Given the description of an element on the screen output the (x, y) to click on. 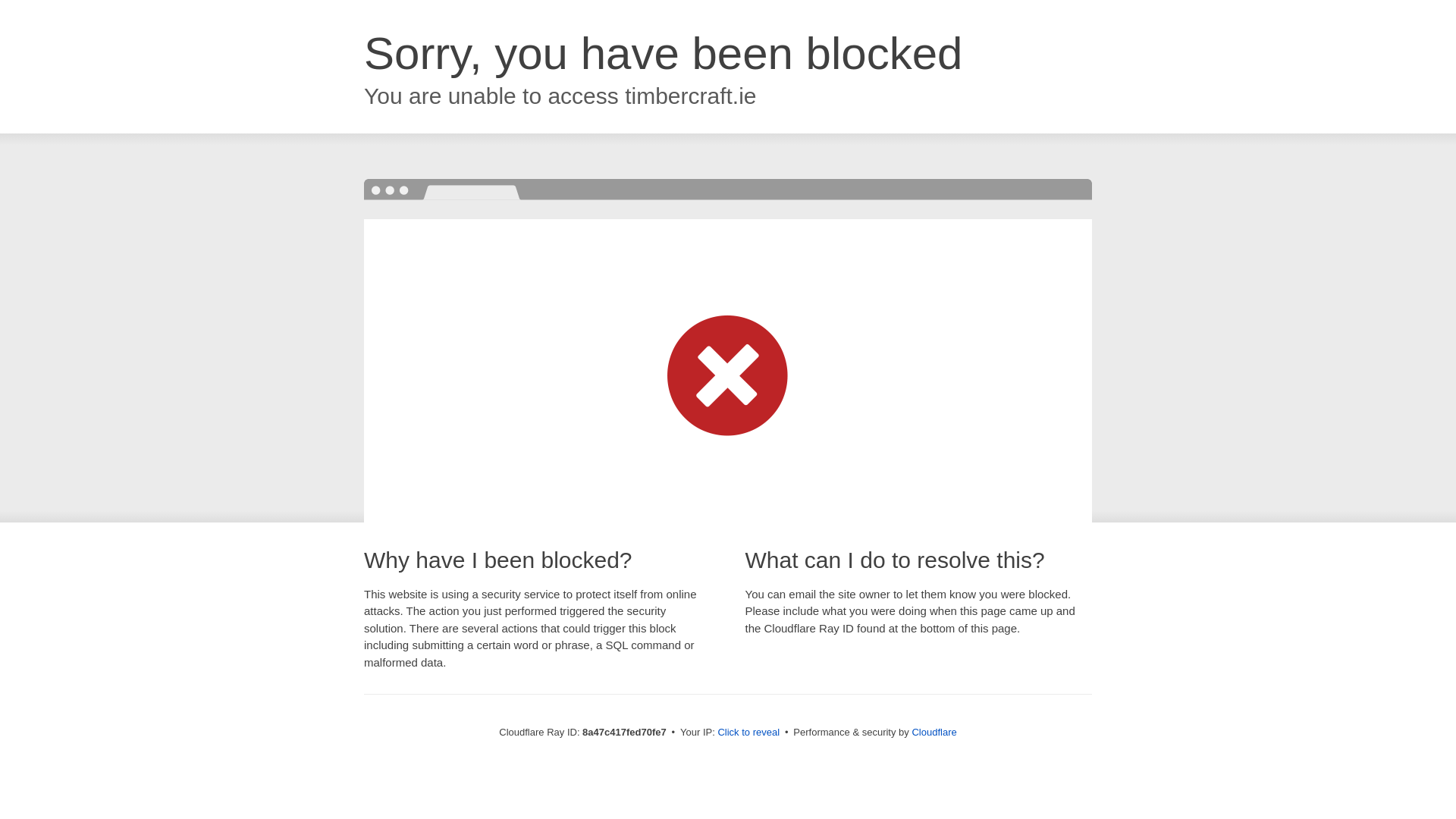
Cloudflare (933, 731)
Click to reveal (747, 732)
